Given the description of an element on the screen output the (x, y) to click on. 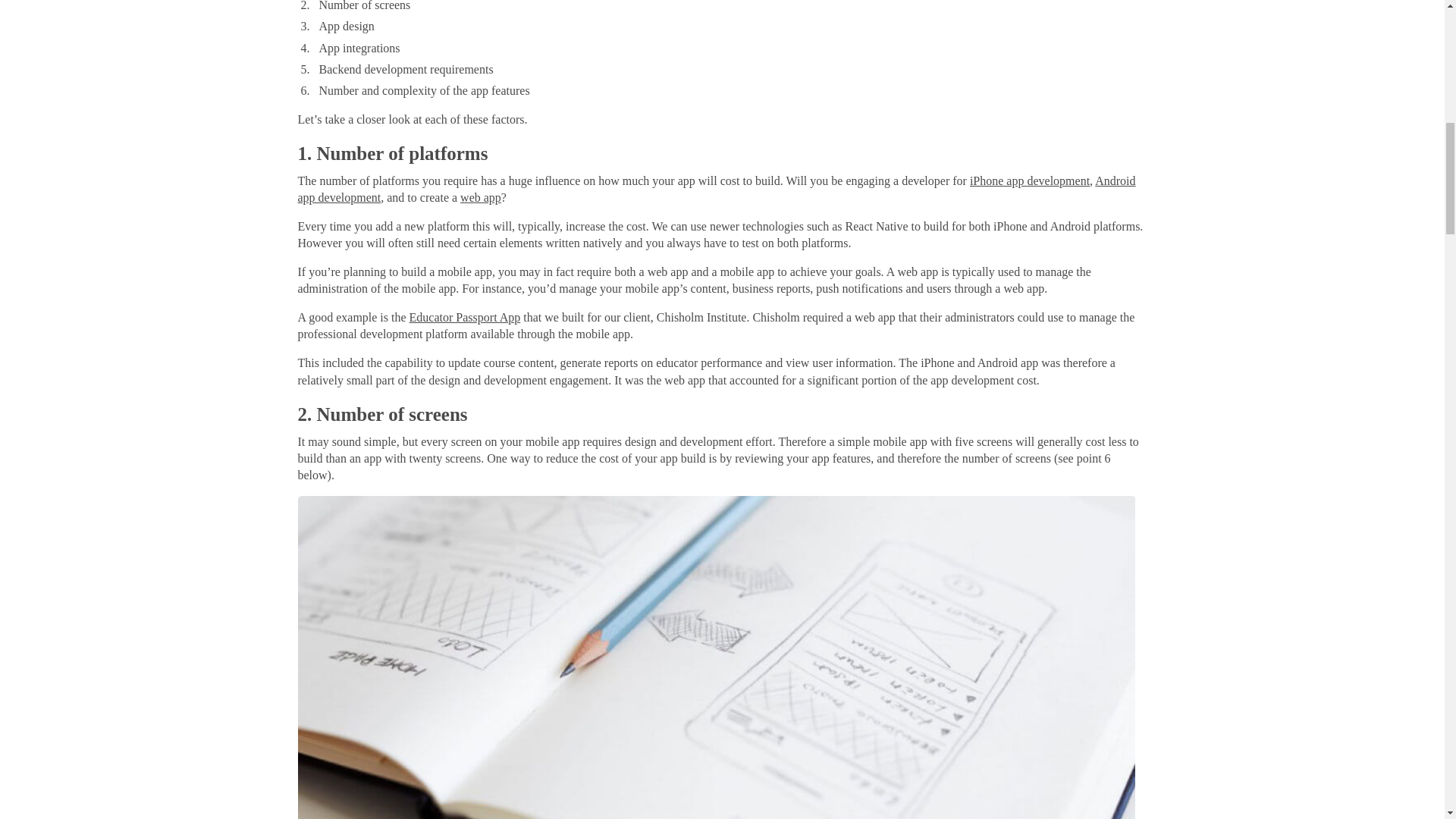
web app (480, 196)
Educator Passport App (465, 317)
iPhone app development (1029, 180)
Android app development (716, 188)
